Given the description of an element on the screen output the (x, y) to click on. 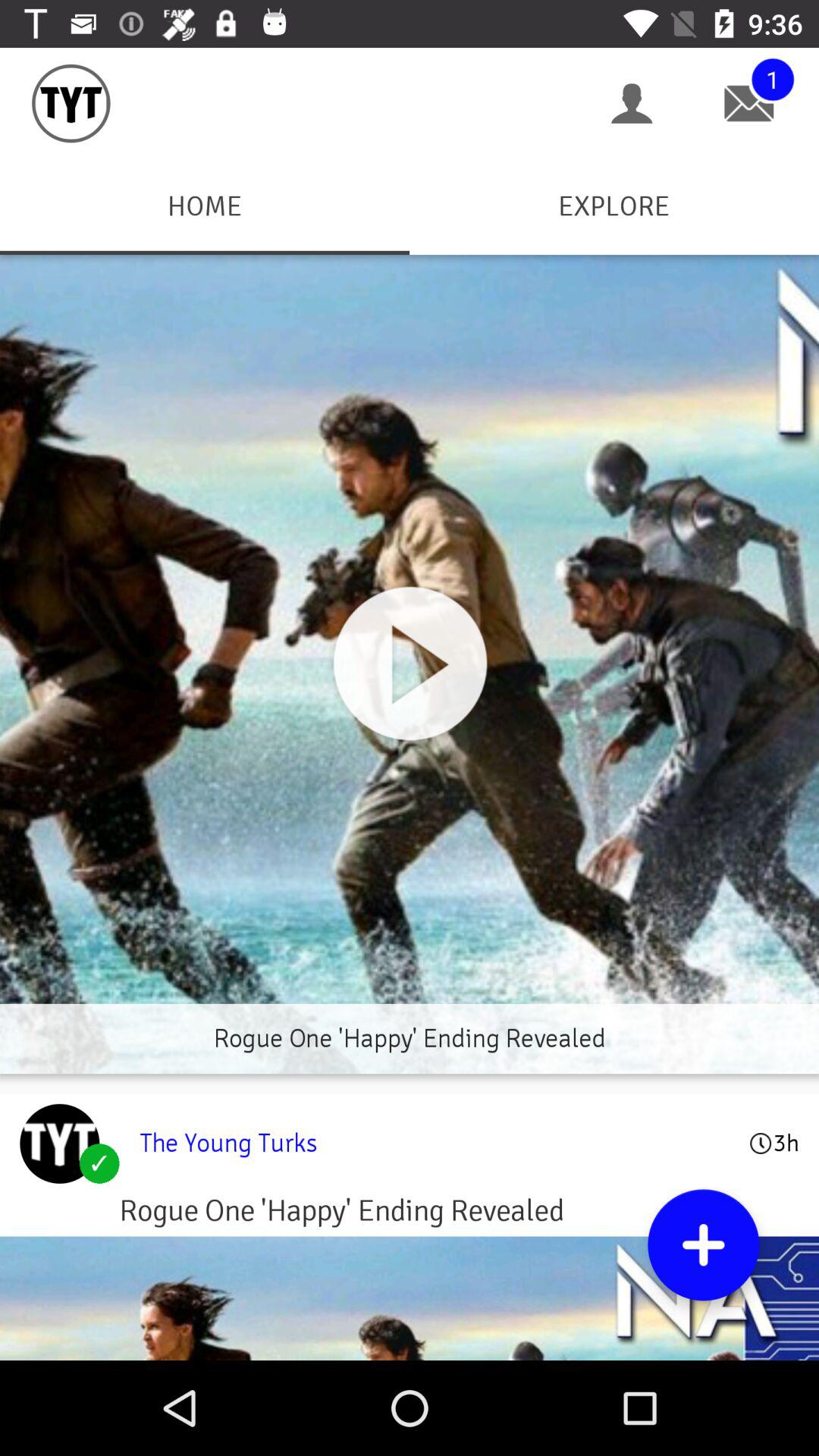
go to young turks profile (59, 1143)
